Given the description of an element on the screen output the (x, y) to click on. 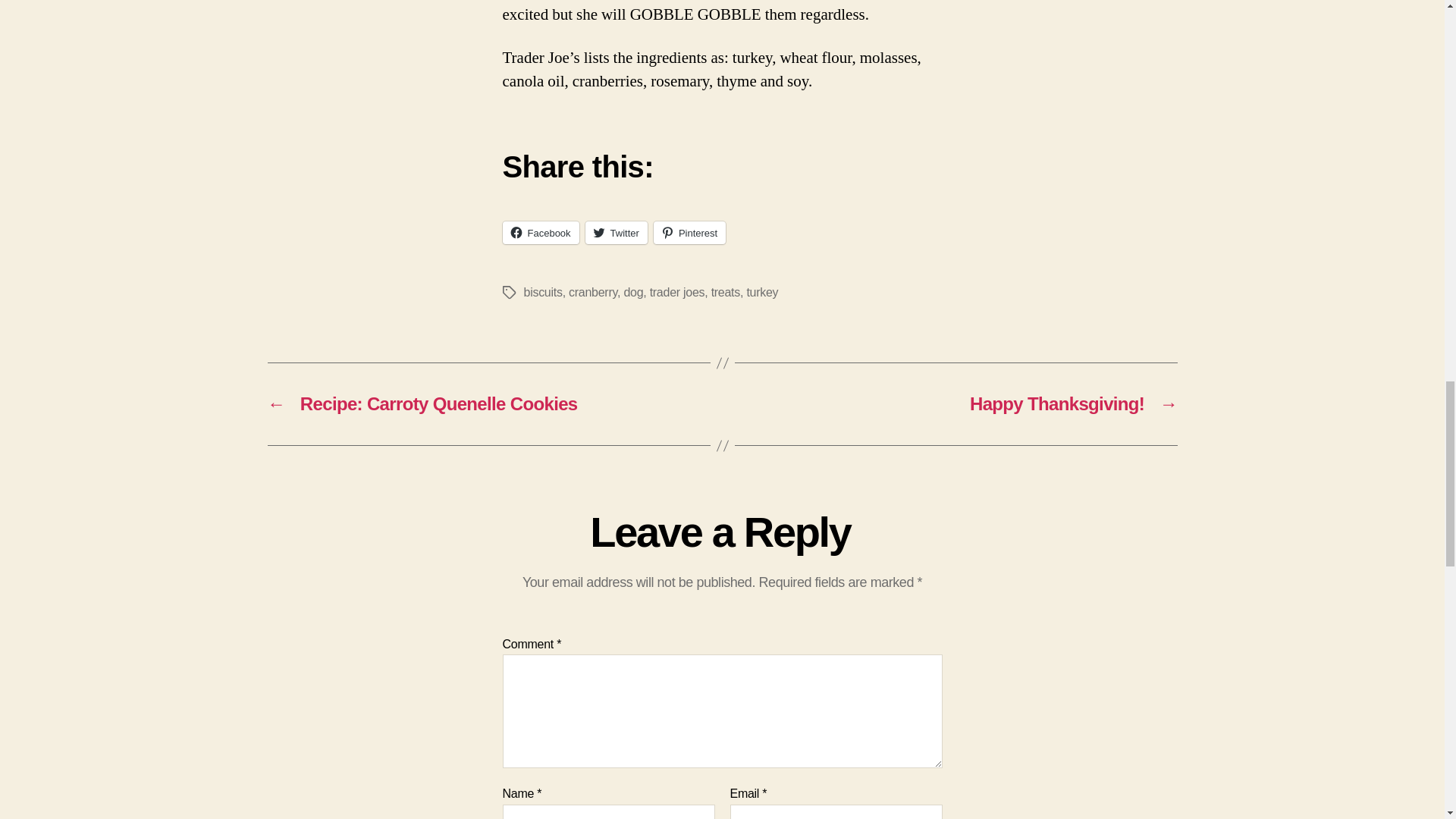
dog (633, 291)
Pinterest (689, 232)
treats (725, 291)
Click to share on Pinterest (689, 232)
Click to share on Twitter (616, 232)
Twitter (616, 232)
Facebook (540, 232)
biscuits (542, 291)
trader joes (676, 291)
cranberry (593, 291)
Click to share on Facebook (540, 232)
turkey (761, 291)
